Given the description of an element on the screen output the (x, y) to click on. 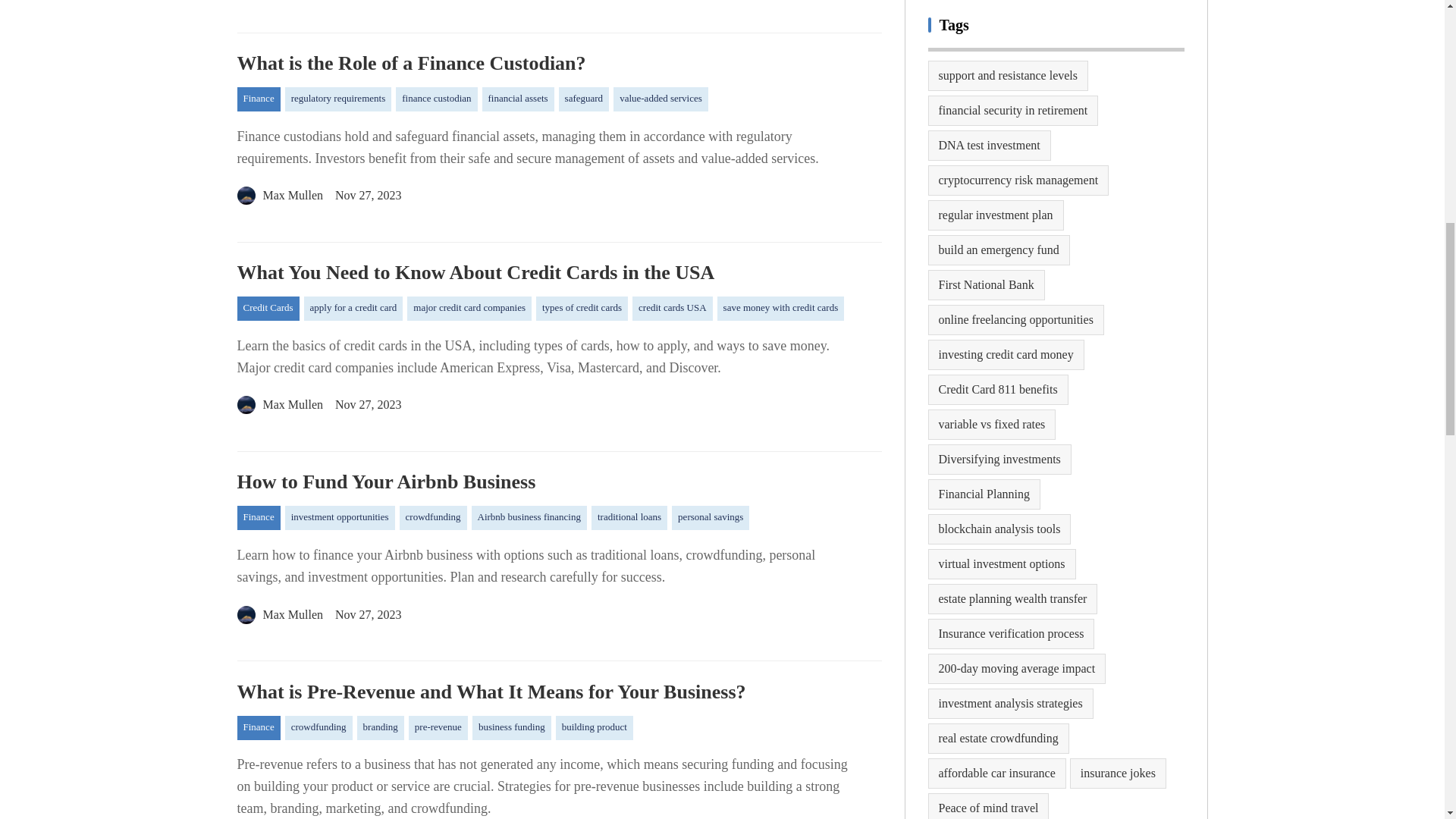
Finance (257, 98)
financial assets (517, 98)
regulatory requirements (338, 98)
safeguard (584, 98)
What is the Role of a Finance Custodian? (557, 63)
finance custodian (436, 98)
